Given the description of an element on the screen output the (x, y) to click on. 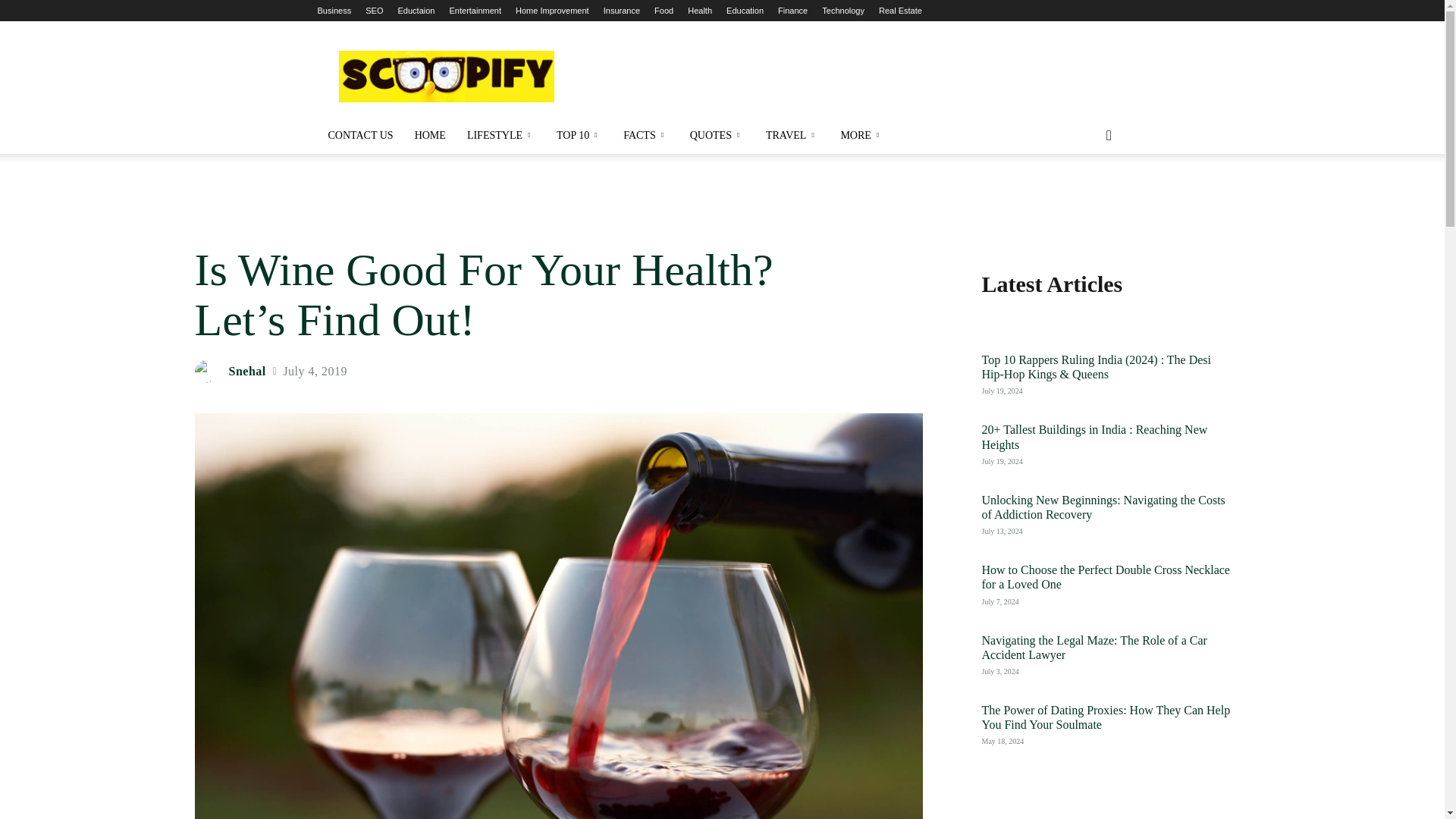
SEO (373, 10)
Insurance (622, 10)
Business (333, 10)
Eductaion (415, 10)
Food (662, 10)
Entertainment (474, 10)
Home Improvement (552, 10)
